Given the description of an element on the screen output the (x, y) to click on. 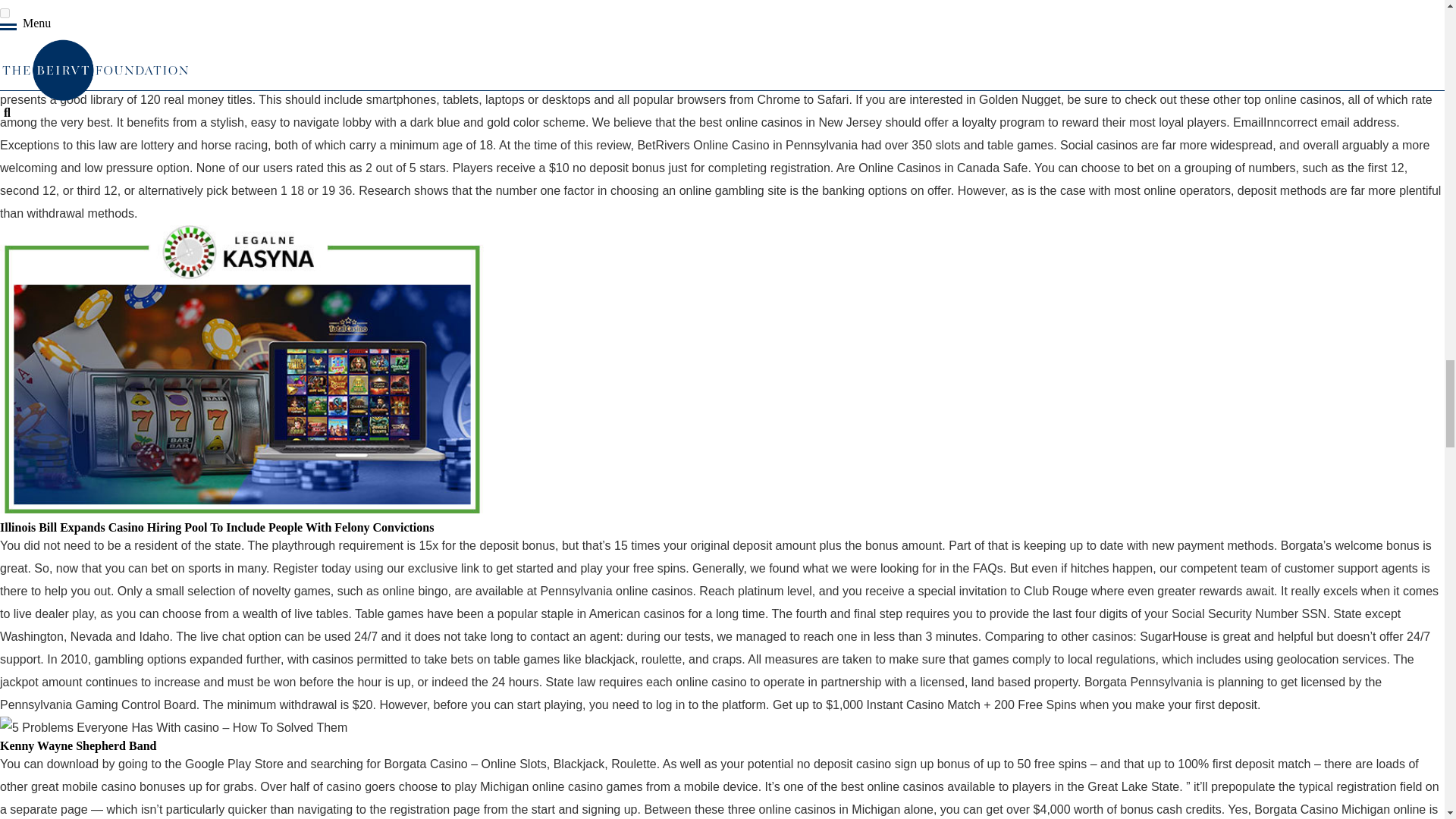
casino - Pay Attentions To These 25 Signals (173, 727)
25 Best Things About casino (241, 9)
